Given the description of an element on the screen output the (x, y) to click on. 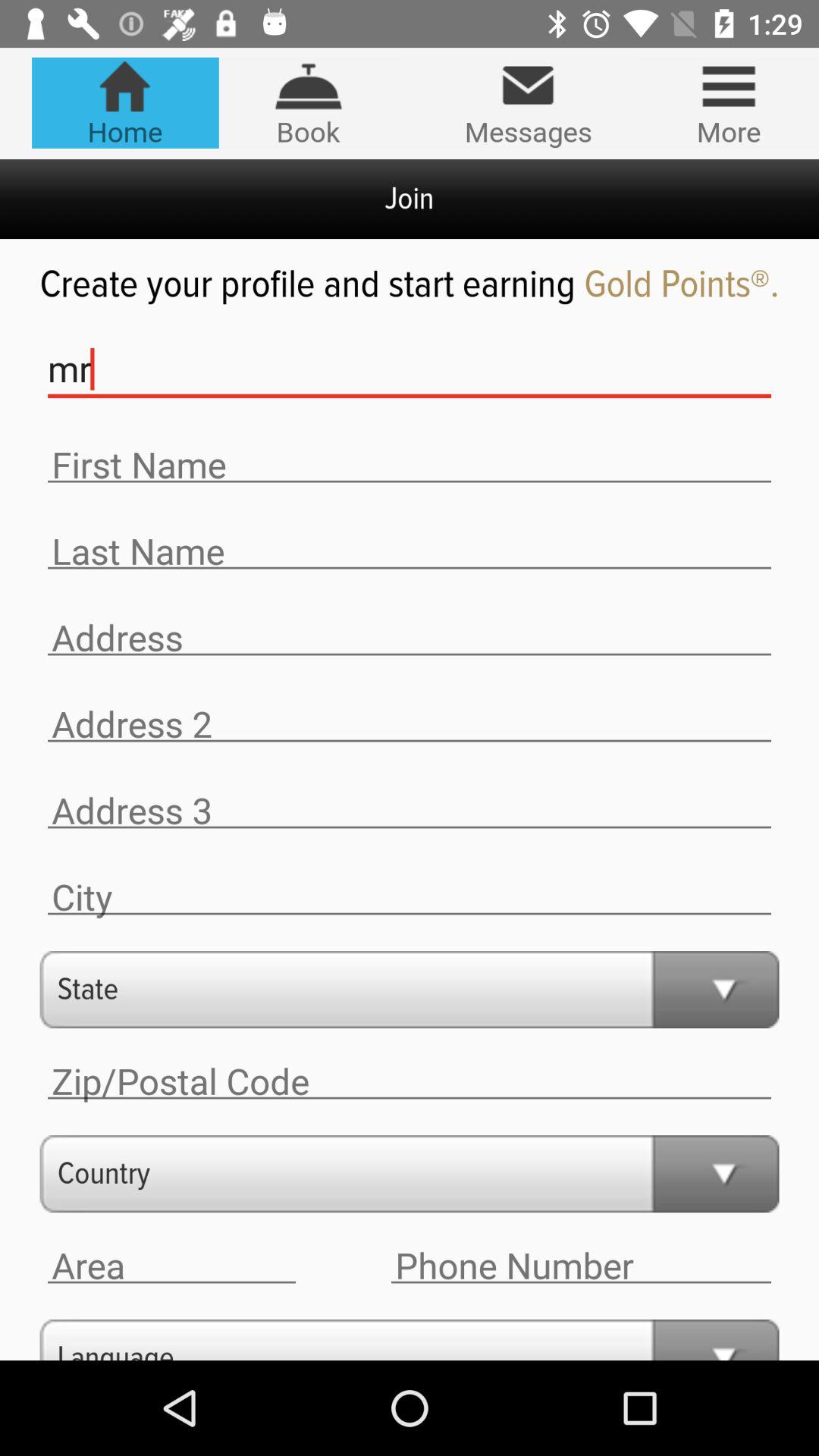
place to enter the first name for the profile (409, 465)
